Given the description of an element on the screen output the (x, y) to click on. 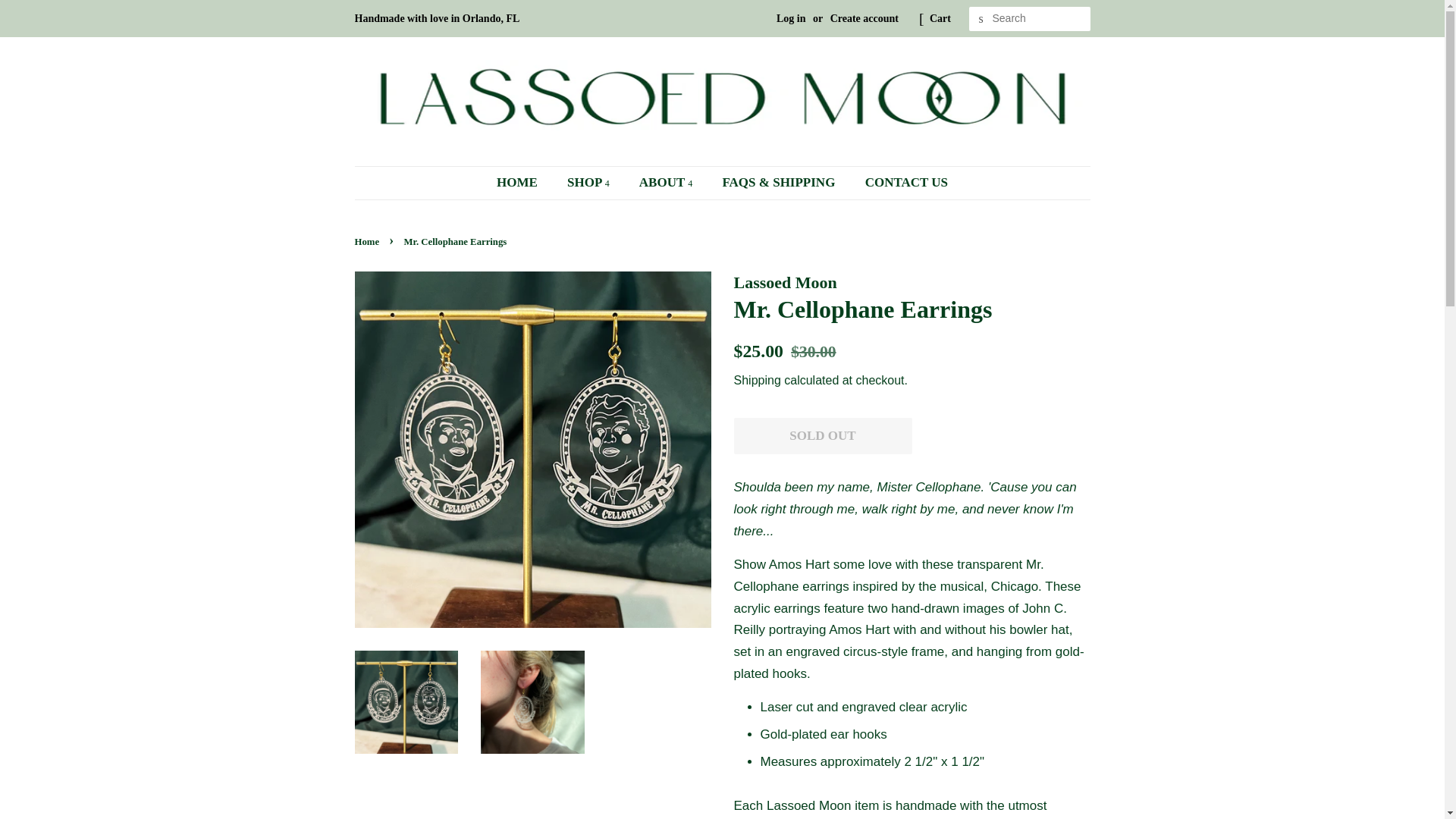
Log in (791, 18)
Back to the frontpage (369, 241)
Create account (863, 18)
SEARCH (980, 18)
Cart (940, 18)
